Given the description of an element on the screen output the (x, y) to click on. 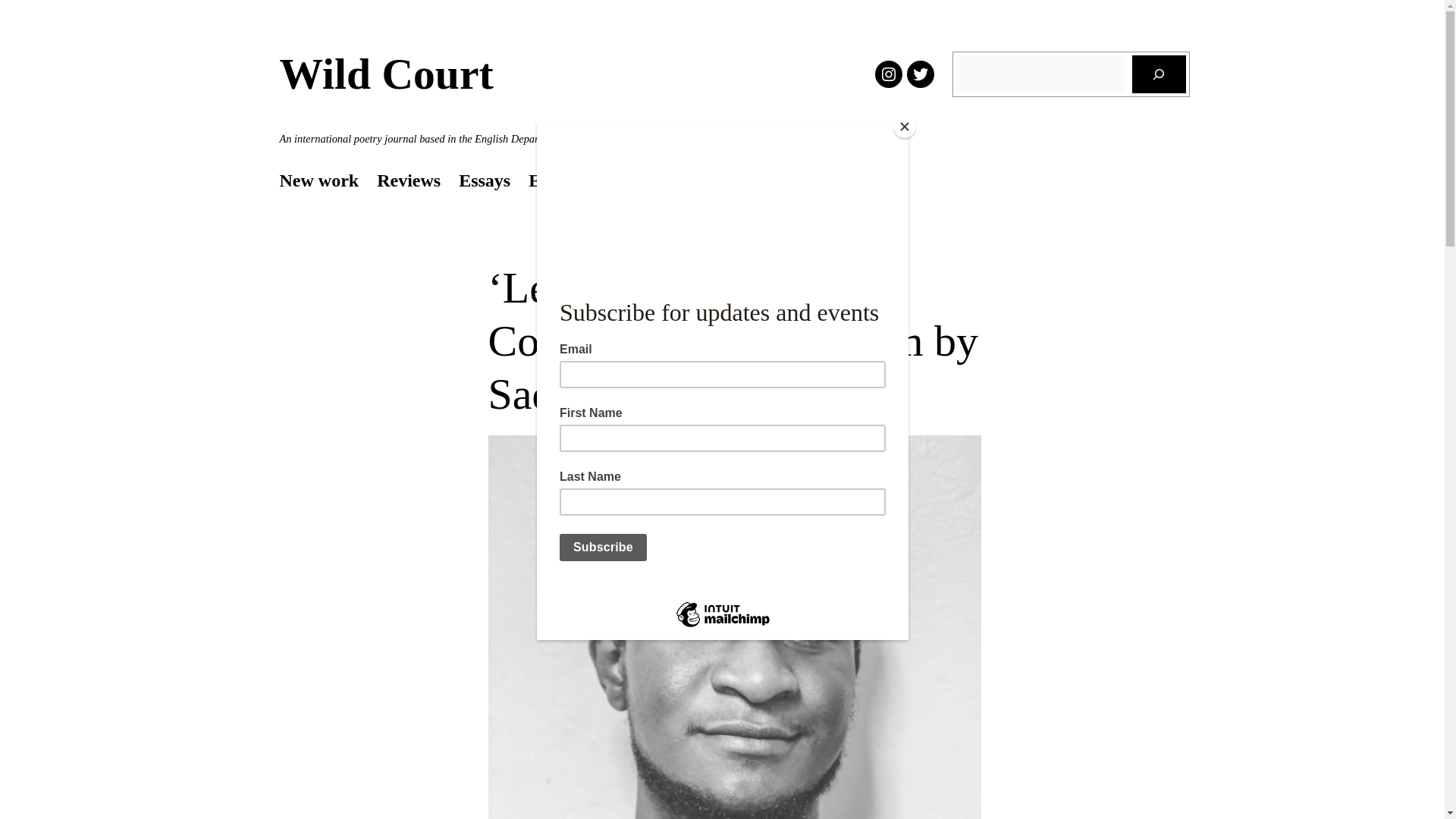
Instagram (888, 73)
Events (554, 180)
Wild Court (386, 73)
Twitter (920, 73)
Events (554, 180)
About (623, 180)
New work (318, 180)
Essays (484, 180)
Reviews (409, 180)
